Given the description of an element on the screen output the (x, y) to click on. 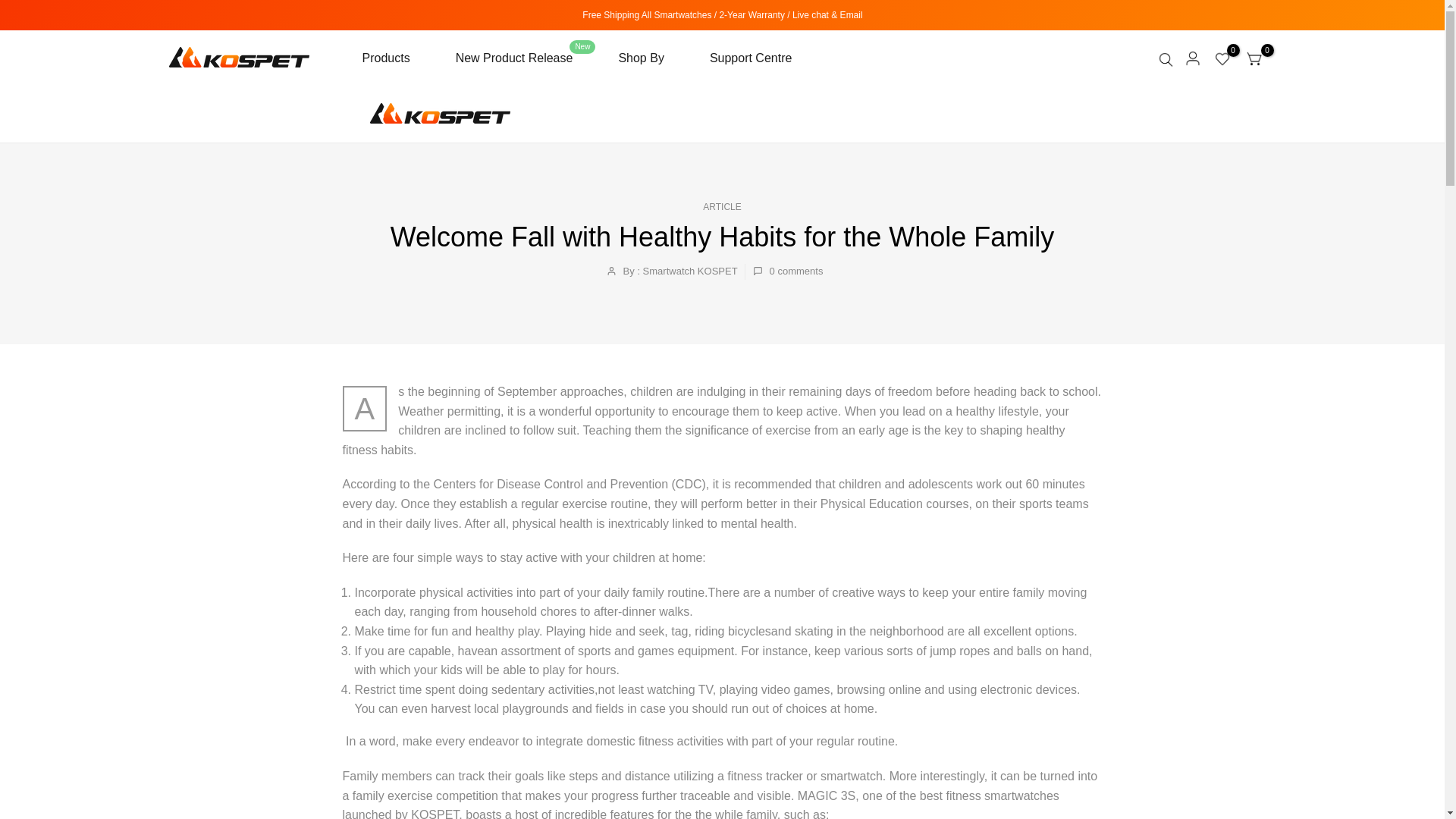
0 (1254, 58)
Products (397, 57)
Skip to content (10, 7)
Shop By (640, 57)
0 comments (788, 271)
ARTICLE (722, 206)
Support Centre (739, 57)
0 (1222, 58)
